Given the description of an element on the screen output the (x, y) to click on. 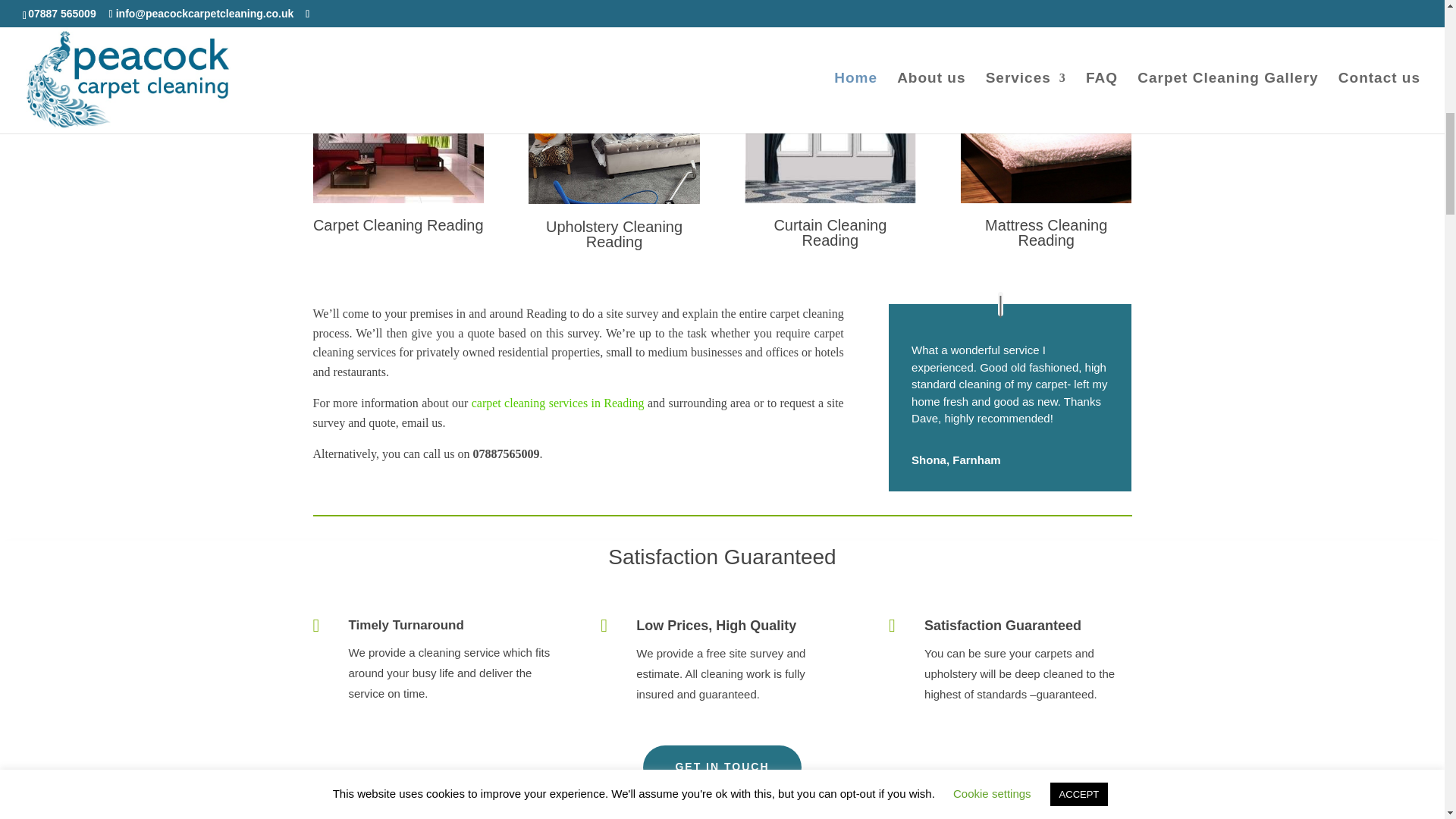
carpet cleaner Reading (829, 145)
carpet cleaner Reading (613, 145)
GET IN TOUCH (721, 767)
carpet cleaner Reading (398, 145)
carpet cleaner Reading (1045, 145)
carpet cleaning services in Reading (558, 402)
